Given the description of an element on the screen output the (x, y) to click on. 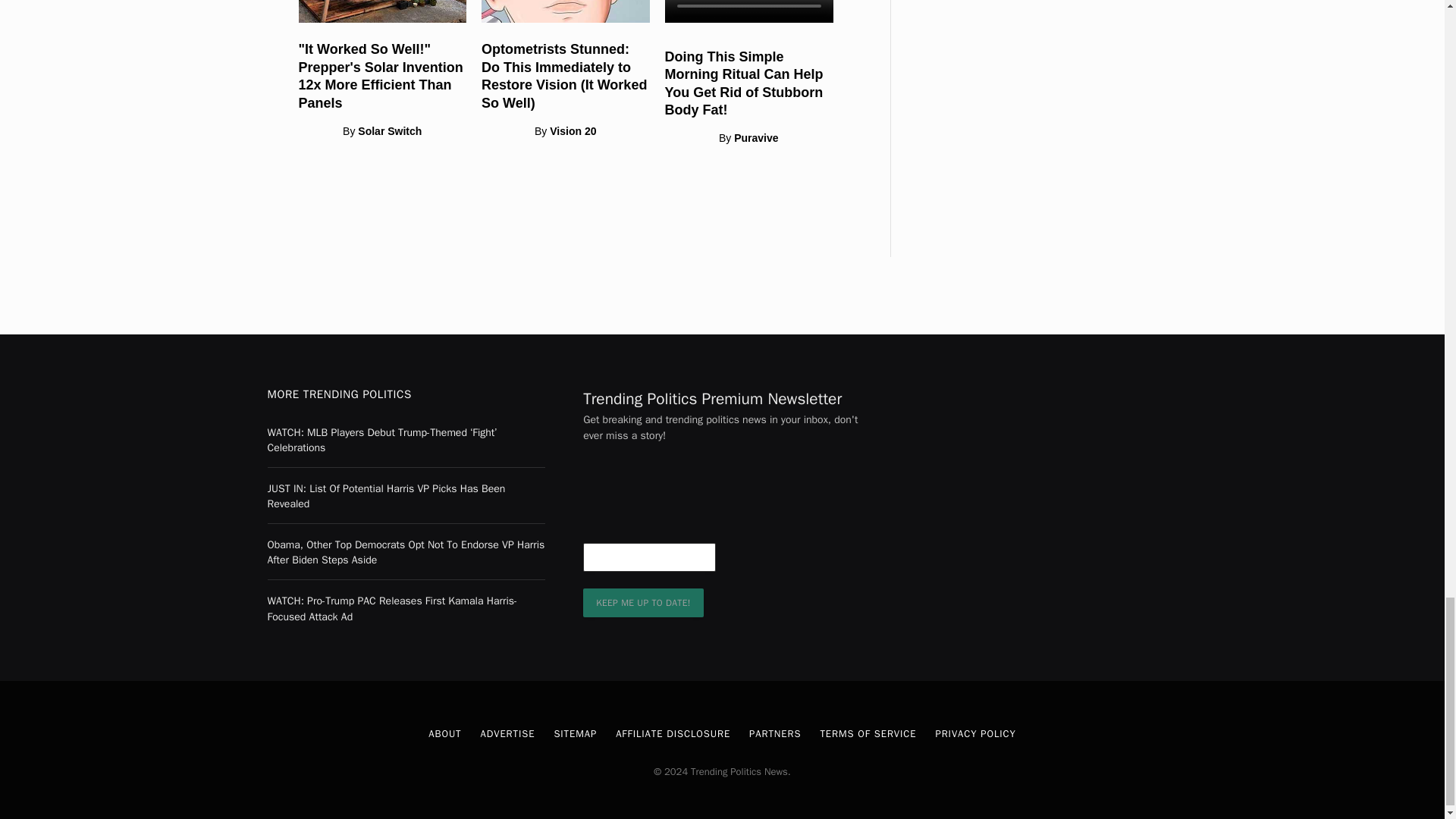
Keep me up to date! (643, 602)
